Given the description of an element on the screen output the (x, y) to click on. 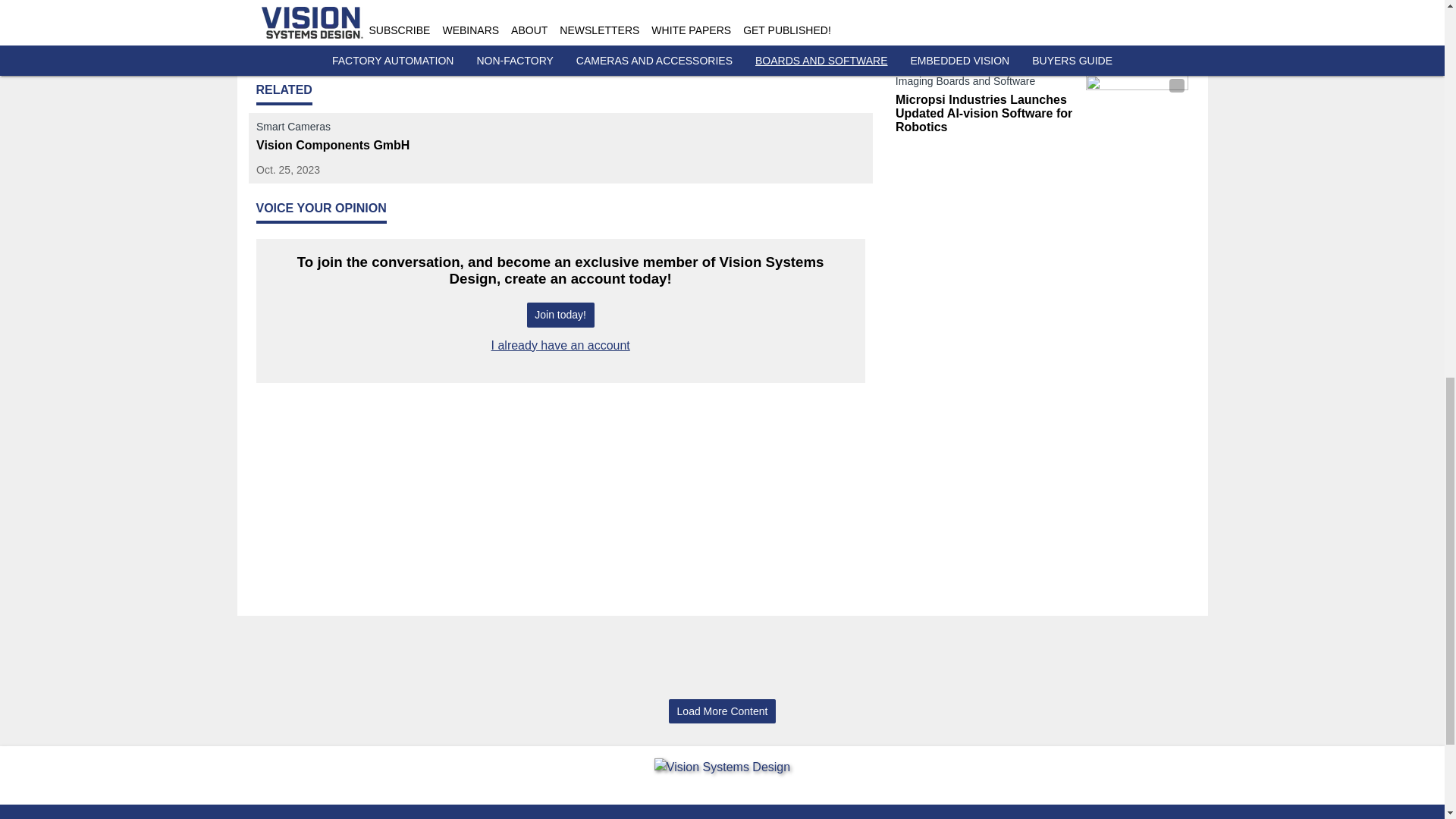
Smart Cameras (353, 129)
Imaging Boards and Software (986, 12)
Chris Mc Loone (544, 18)
Vision Components GmbH (353, 145)
I already have an account (561, 345)
Chris Mc Loone (544, 18)
Join today! (560, 314)
